Given the description of an element on the screen output the (x, y) to click on. 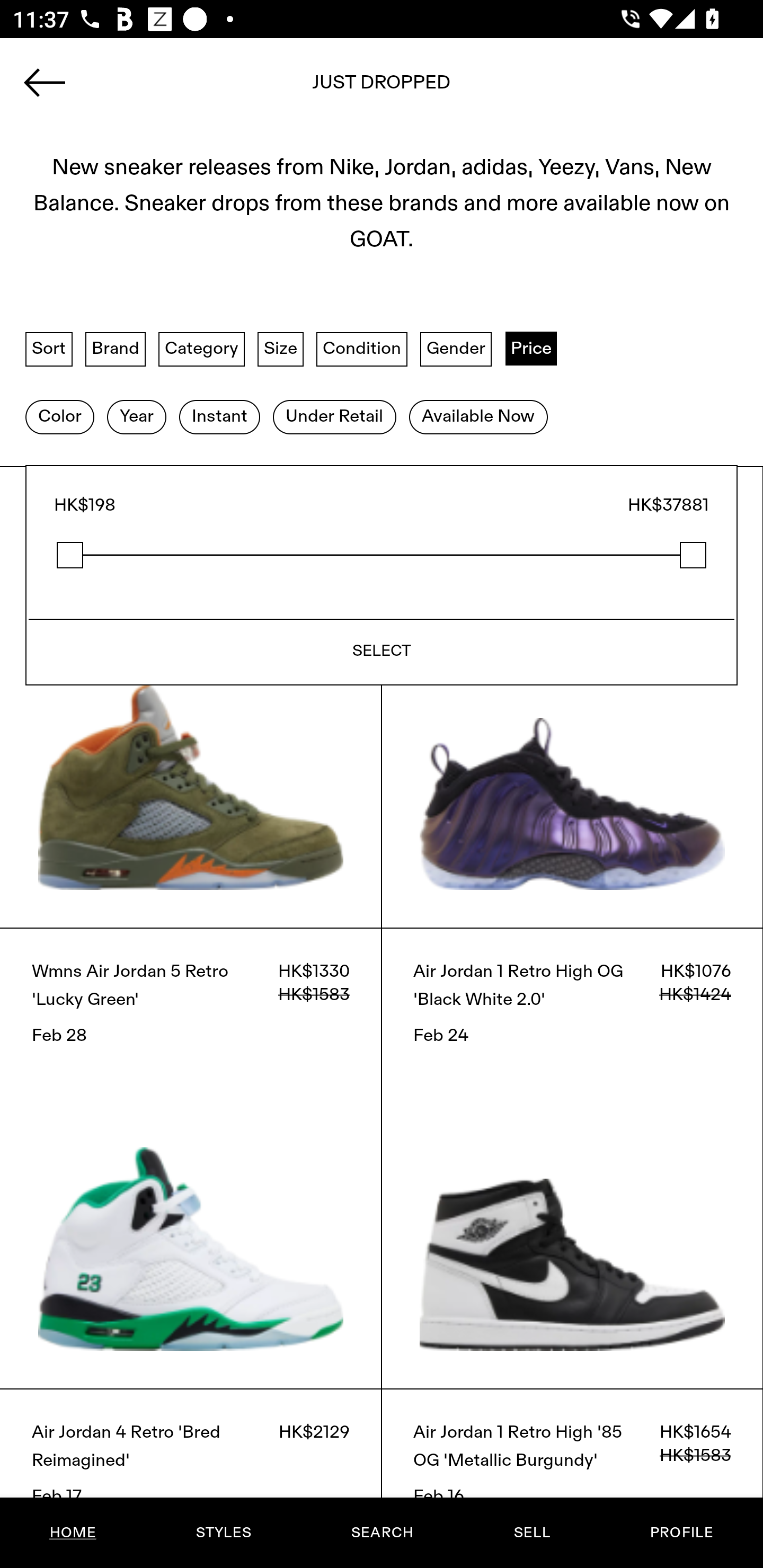
slippers (381, 88)
Sort (48, 348)
Brand (115, 348)
Category (201, 348)
Size (280, 348)
Condition (361, 348)
Gender (455, 348)
Price (530, 348)
Color (59, 416)
Year (136, 416)
Instant (219, 416)
Under Retail (334, 416)
Available Now (477, 416)
198.0 Range start,198 37881.0 Range end,37881 (381, 554)
SELECT (381, 650)
HOME (72, 1532)
STYLES (222, 1532)
SEARCH (381, 1532)
SELL (531, 1532)
PROFILE (681, 1532)
